Given the description of an element on the screen output the (x, y) to click on. 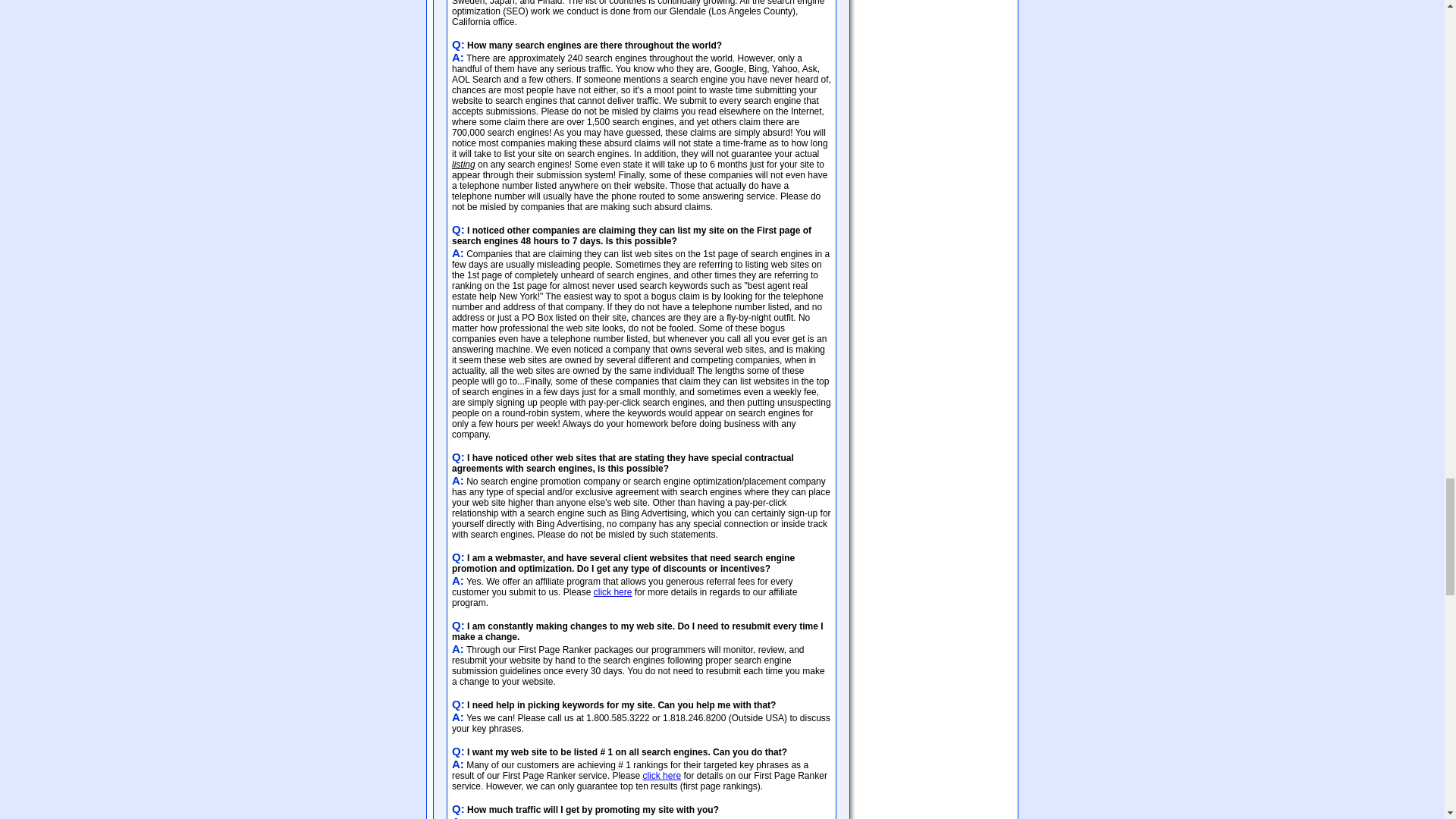
click here (612, 592)
click here (661, 775)
